Given the description of an element on the screen output the (x, y) to click on. 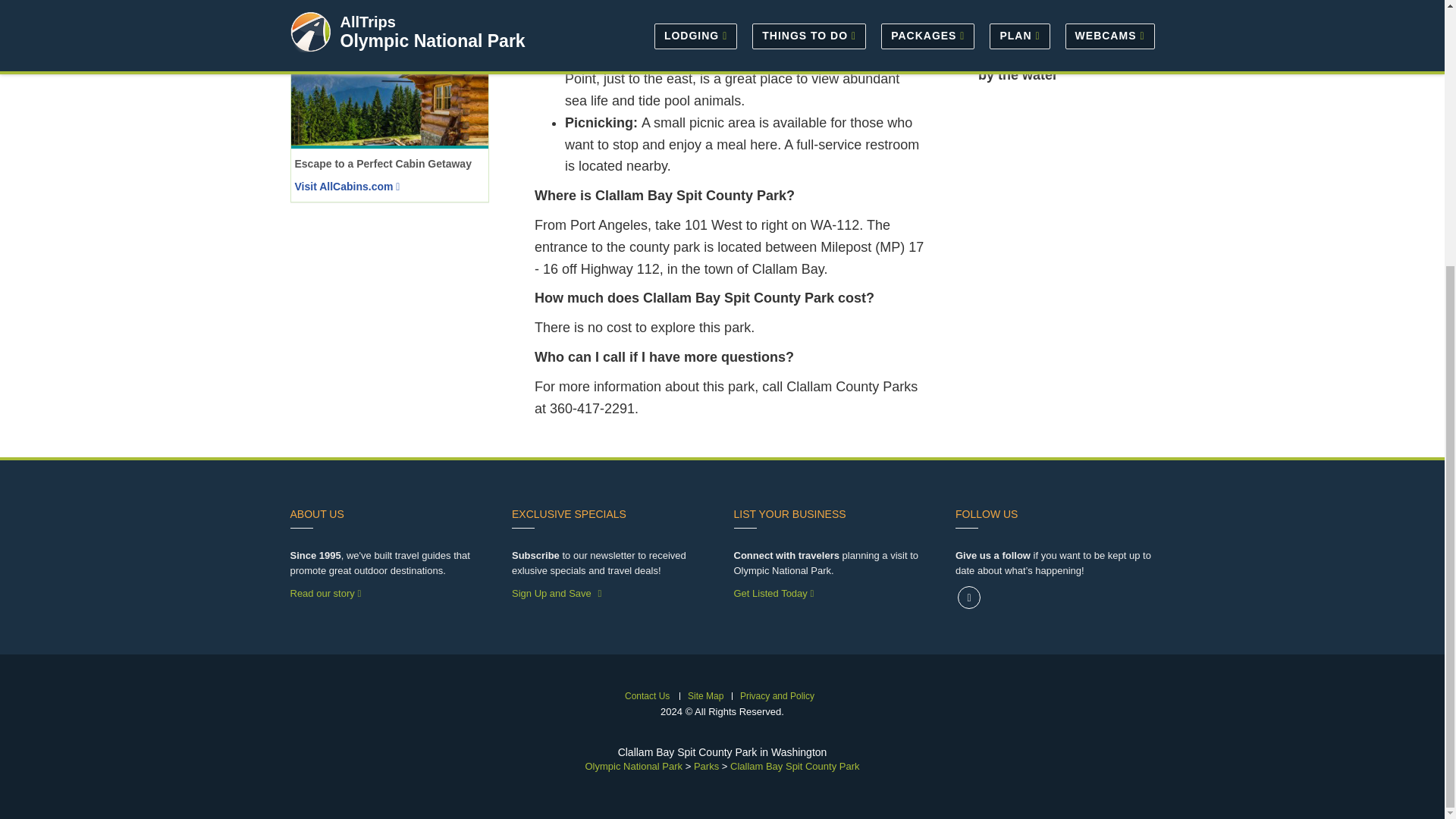
Parks (706, 766)
Clallam Bay Spit County Park (795, 766)
Olympic National Park (633, 766)
